Given the description of an element on the screen output the (x, y) to click on. 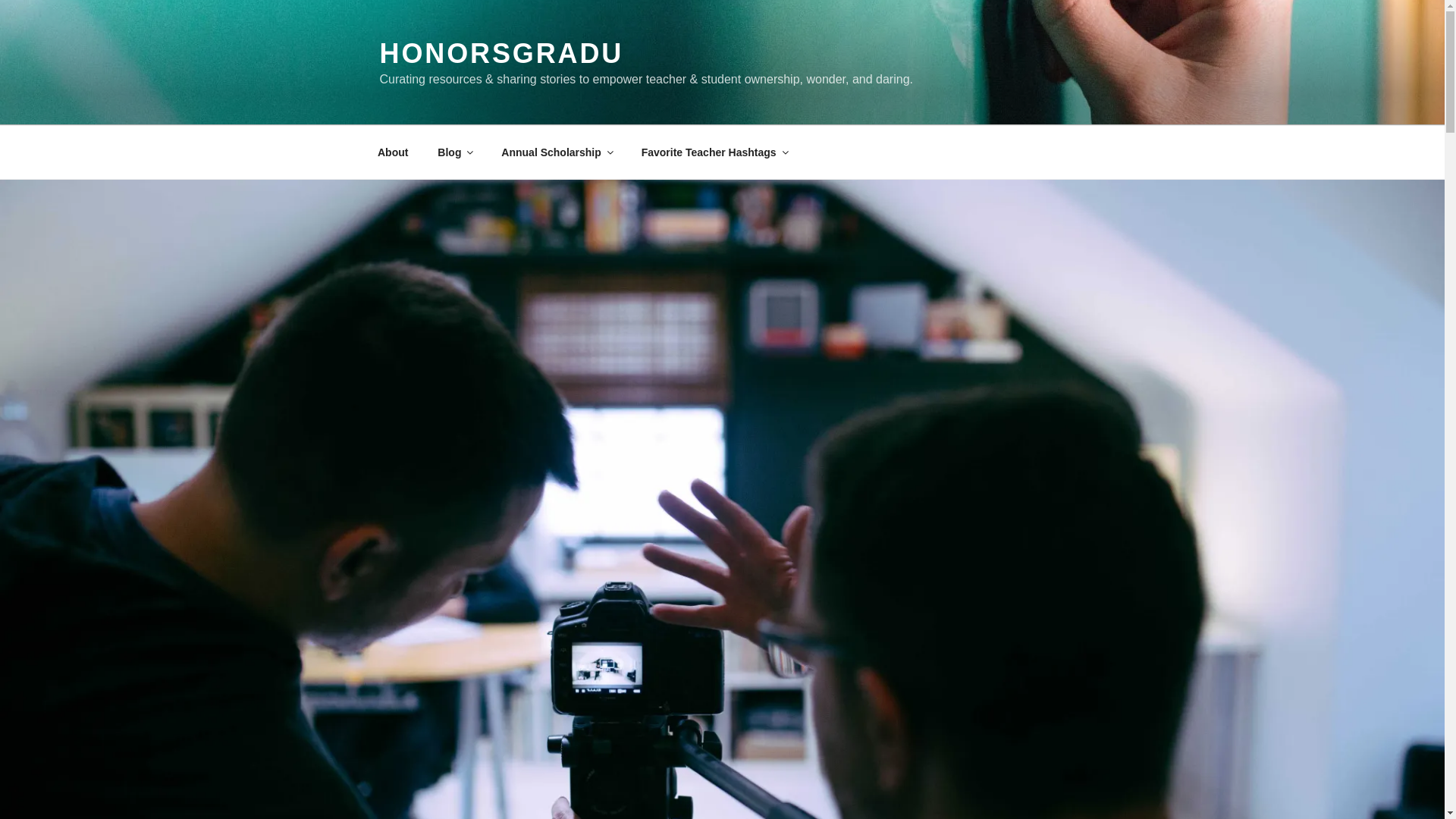
Favorite Teacher Hashtags (713, 151)
Annual Scholarship (555, 151)
HONORSGRADU (500, 52)
Blog (454, 151)
About (392, 151)
